Given the description of an element on the screen output the (x, y) to click on. 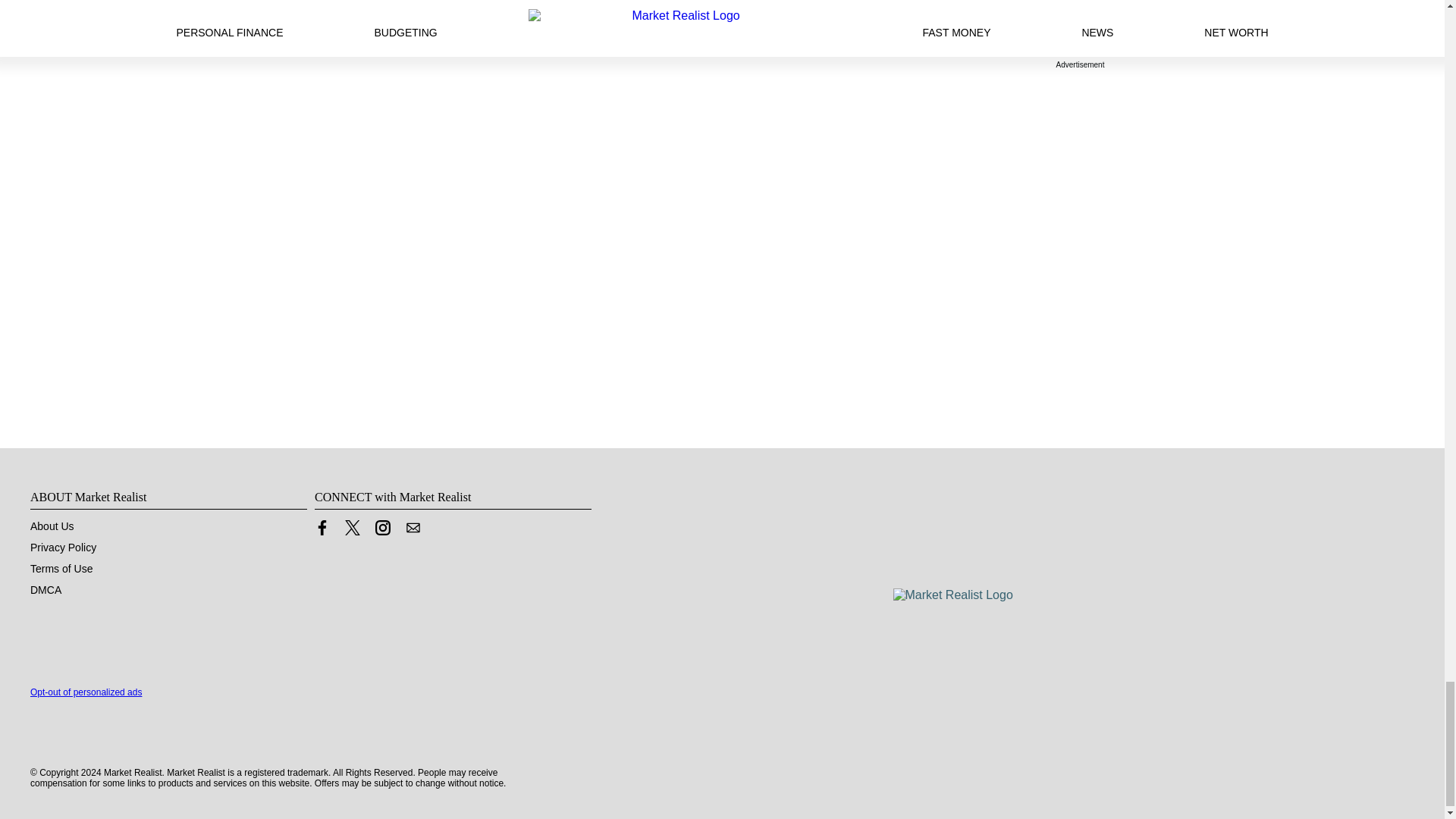
Terms of Use (61, 568)
Link to Instagram (382, 531)
Contact us by Email (413, 531)
Link to Facebook (322, 531)
DMCA (45, 589)
Opt-out of personalized ads (85, 692)
Contact us by Email (413, 527)
Privacy Policy (63, 547)
Terms of Use (61, 568)
About Us (52, 526)
DMCA (45, 589)
About Us (52, 526)
Link to X (352, 531)
Link to Instagram (382, 527)
Link to Facebook (322, 527)
